Given the description of an element on the screen output the (x, y) to click on. 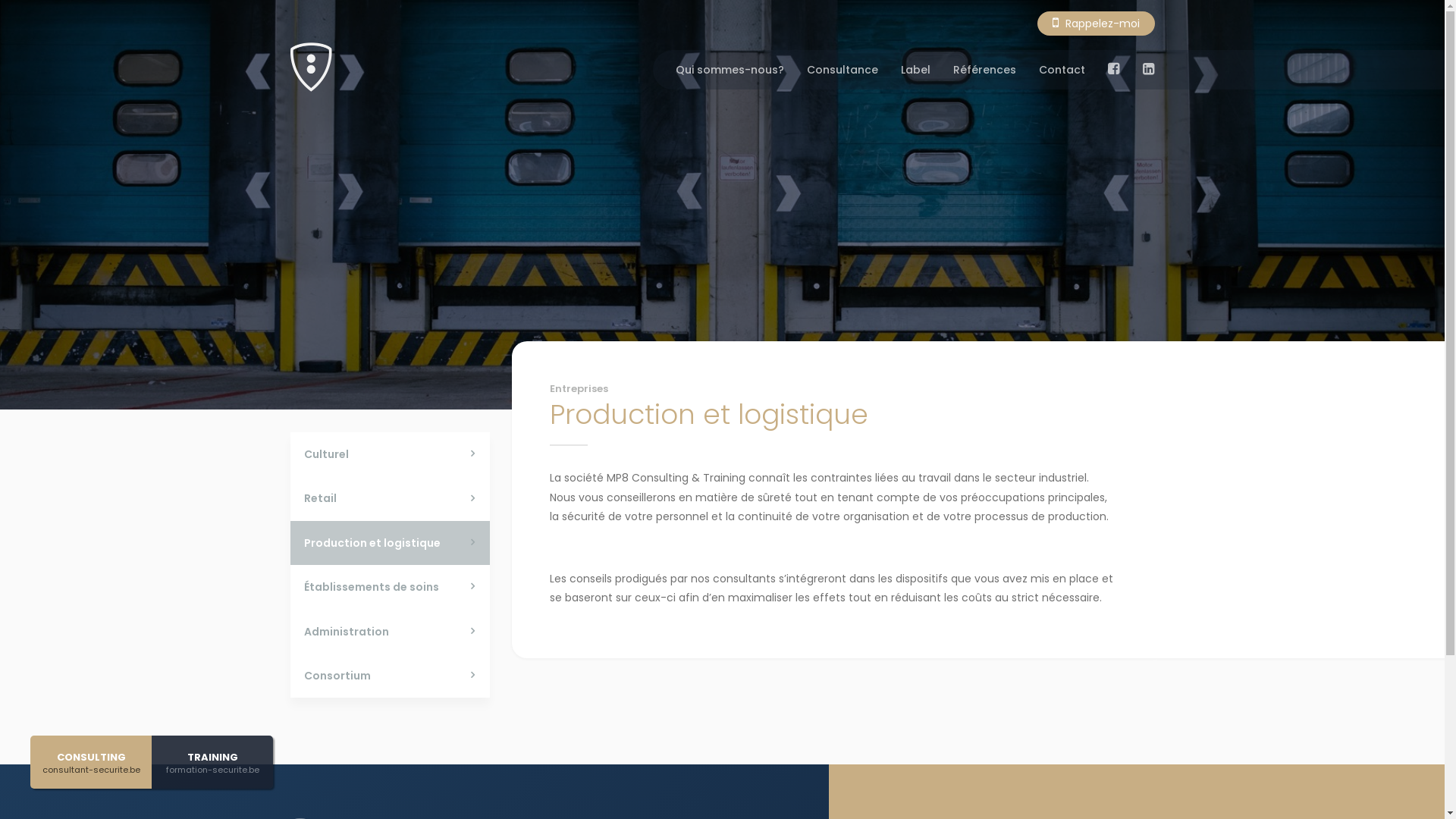
Consortium Element type: text (389, 675)
Rappelez-moi Element type: text (1095, 23)
TRAINING
formation-securite.be Element type: text (212, 761)
Administration Element type: text (389, 631)
Label Element type: text (915, 69)
Culturel Element type: text (389, 454)
Linkedin Element type: text (1148, 69)
Consultance Element type: text (842, 69)
Envoyer Element type: text (905, 747)
Contact Element type: text (1061, 69)
Facebook Element type: text (1113, 69)
Production et logistique Element type: text (389, 542)
Retail Element type: text (389, 498)
Qui sommes-nous? Element type: text (728, 69)
